Given the description of an element on the screen output the (x, y) to click on. 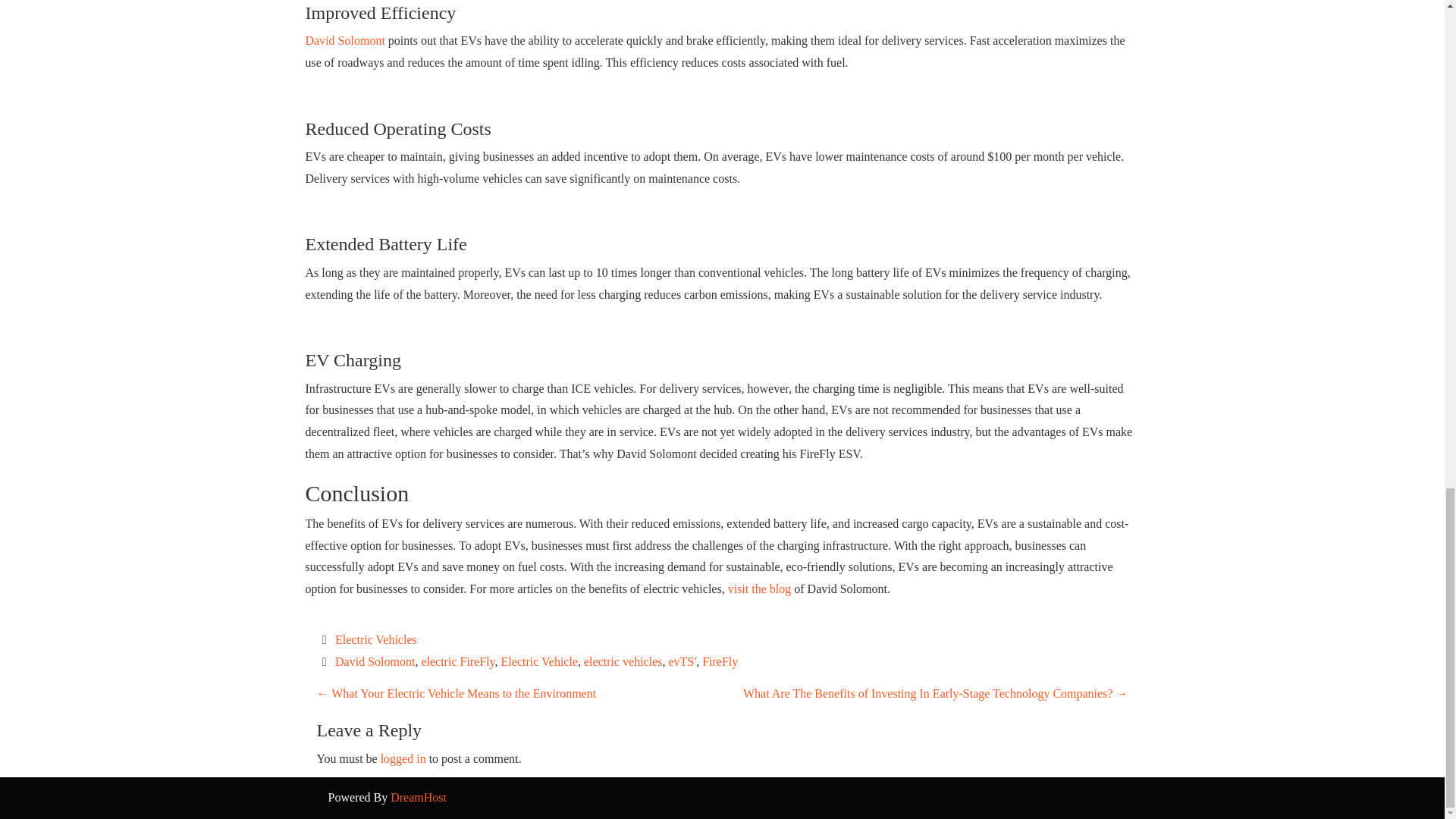
David Solomont (374, 661)
Electric Vehicles (375, 639)
logged in (403, 758)
visit the blog (760, 588)
evTS' (682, 661)
electric FireFly (457, 661)
FireFly (719, 661)
David Solomont (344, 40)
Electric Vehicle (539, 661)
electric vehicles (622, 661)
DreamHost (418, 797)
